Given the description of an element on the screen output the (x, y) to click on. 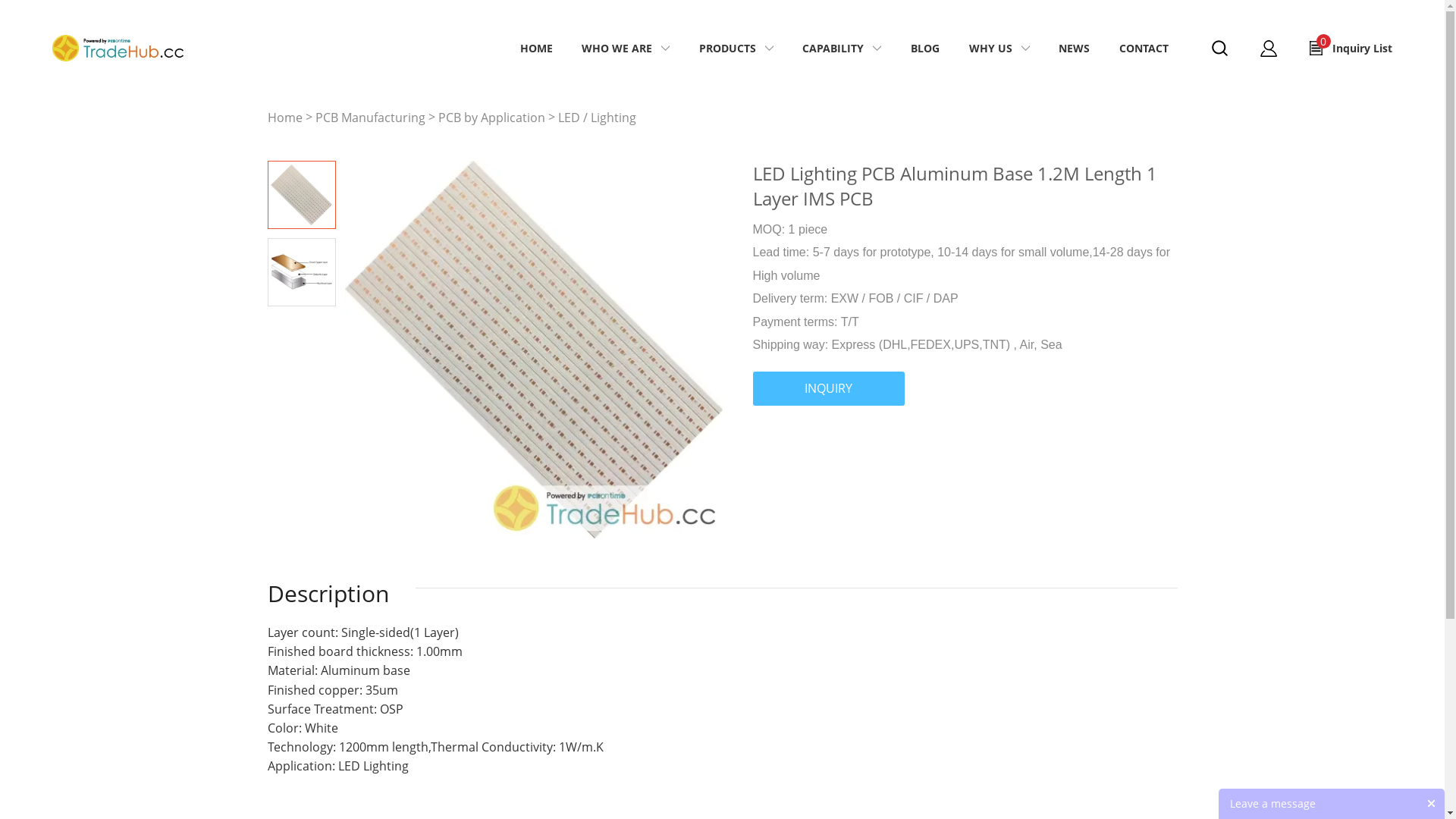
LED / Lighting Element type: text (597, 117)
Inquiry List
0 Element type: text (1350, 48)
PRODUCTS Element type: text (727, 48)
Home Element type: text (283, 117)
WHO WE ARE Element type: text (616, 48)
INQUIRY Element type: text (827, 388)
WHY US Element type: text (990, 48)
CONTACT Element type: text (1143, 48)
PCB by Application Element type: text (491, 117)
CAPABILITY Element type: text (832, 48)
NEWS Element type: text (1073, 48)
HOME Element type: text (536, 48)
BLOG Element type: text (924, 48)
PCB Manufacturing Element type: text (370, 117)
